Given the description of an element on the screen output the (x, y) to click on. 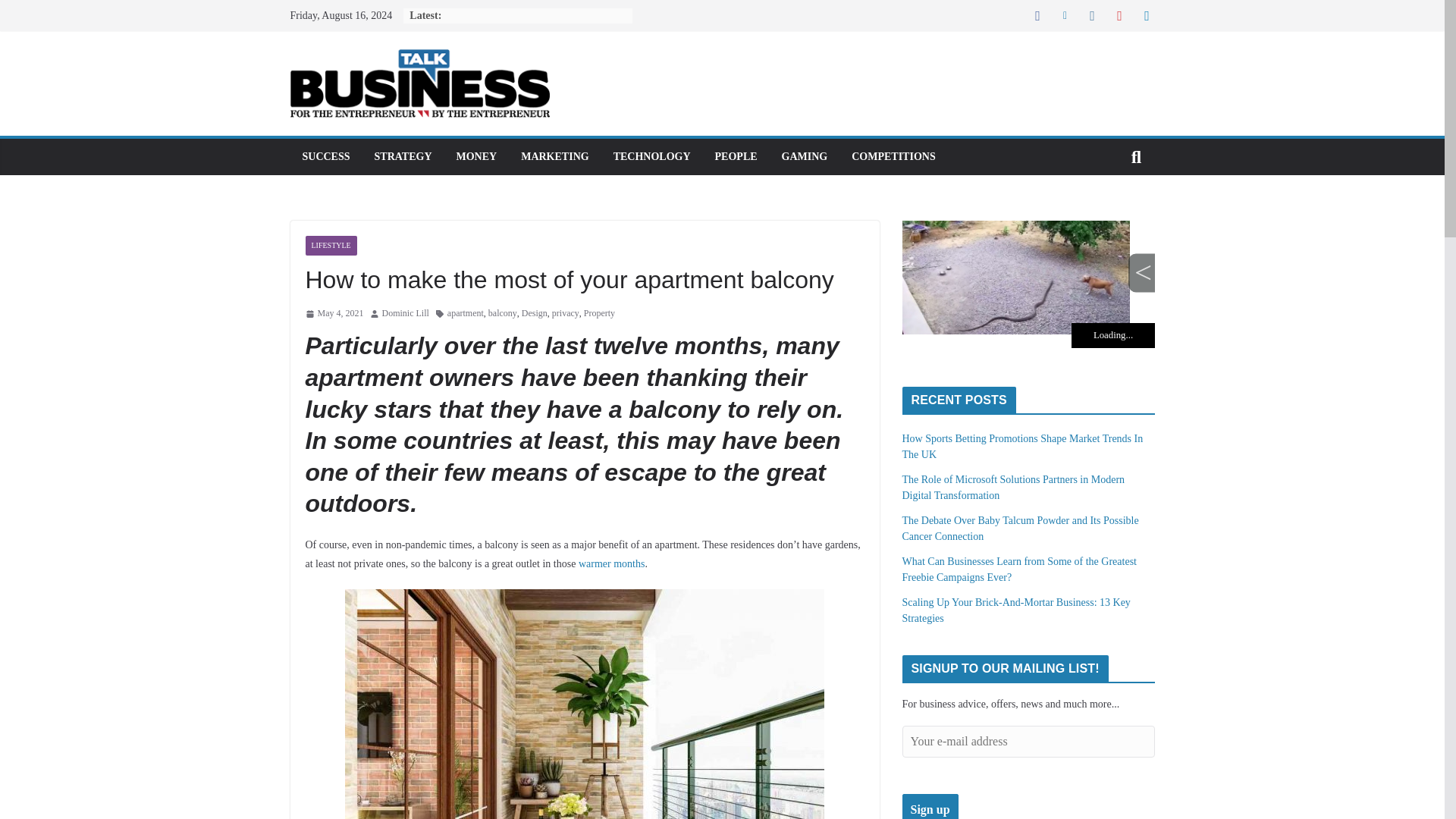
MONEY (477, 156)
COMPETITIONS (892, 156)
GAMING (804, 156)
warmer months (611, 563)
privacy (565, 313)
Design (534, 313)
Dominic Lill (405, 313)
STRATEGY (403, 156)
TECHNOLOGY (651, 156)
apartment (464, 313)
